Given the description of an element on the screen output the (x, y) to click on. 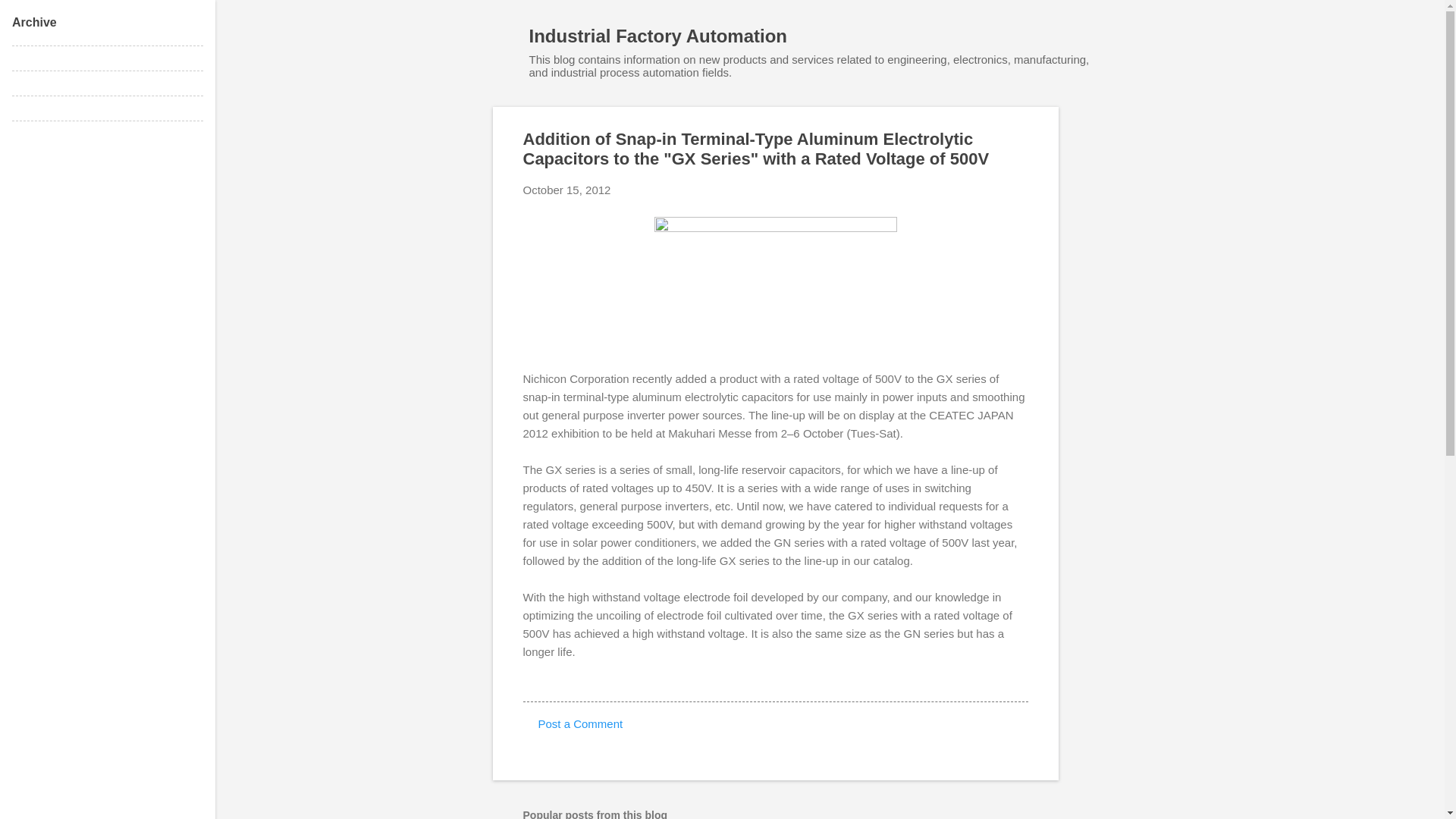
Post a Comment (580, 723)
Industrial Factory Automation (658, 35)
permanent link (566, 189)
October 15, 2012 (566, 189)
